Given the description of an element on the screen output the (x, y) to click on. 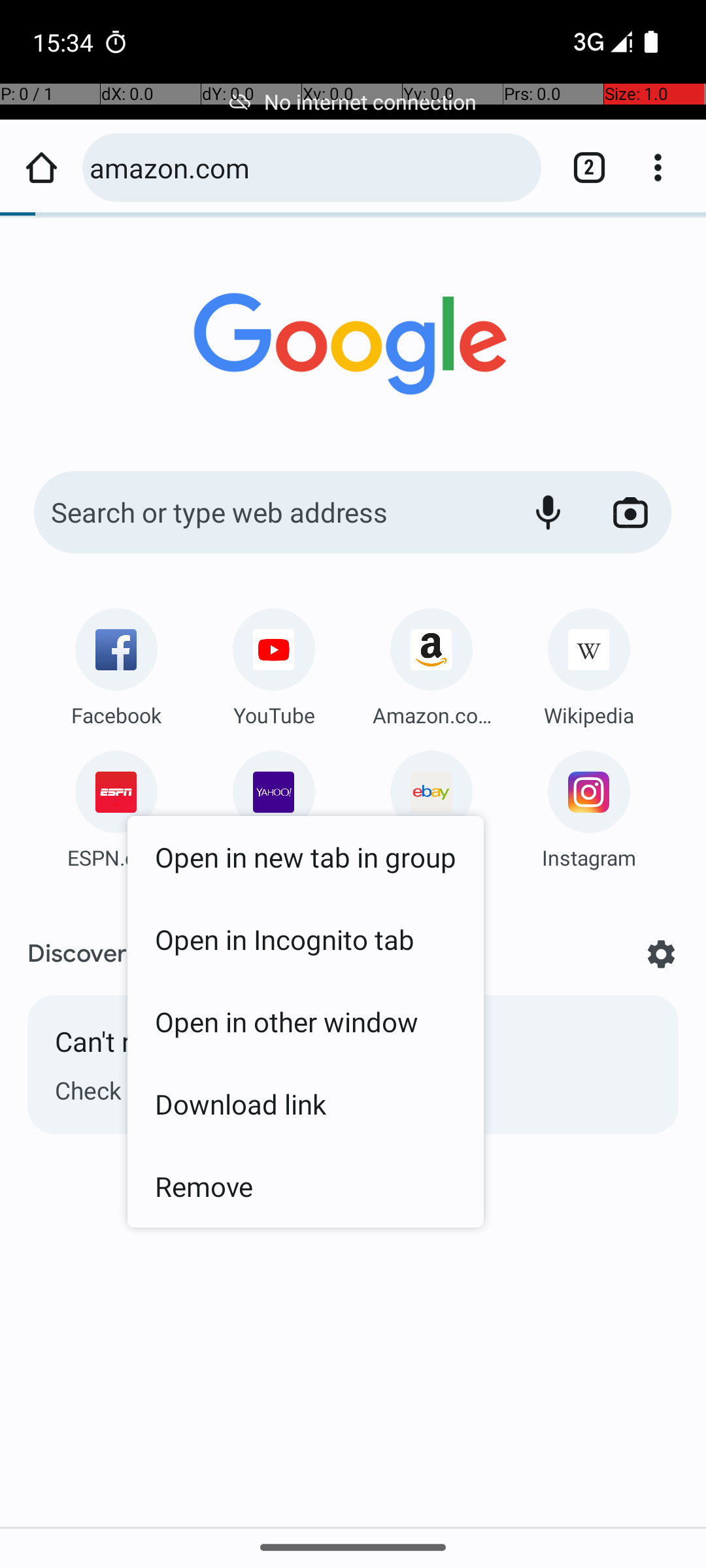
Open in new tab in group Element type: android.widget.TextView (305, 856)
Open in Incognito tab Element type: android.widget.TextView (305, 938)
Open in other window Element type: android.widget.TextView (305, 1021)
Download link Element type: android.widget.TextView (305, 1103)
Remove Element type: android.widget.TextView (305, 1185)
